Given the description of an element on the screen output the (x, y) to click on. 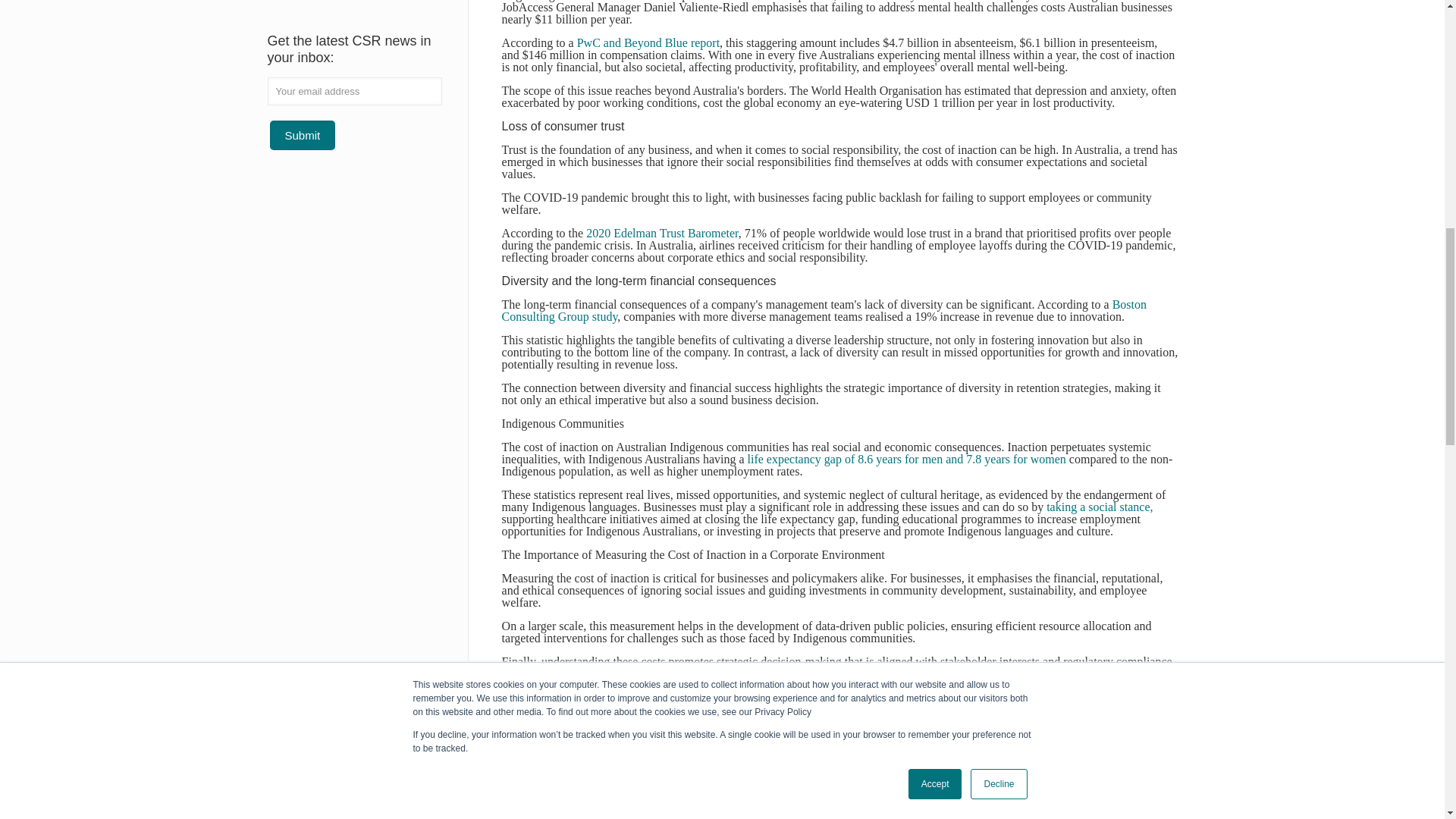
PwC and Beyond Blue report (647, 42)
taking a social stance, (1098, 506)
Submit (302, 134)
Boston Consulting Group study (824, 310)
Submit (302, 134)
2020 Edelman Trust Barometer (662, 232)
